Given the description of an element on the screen output the (x, y) to click on. 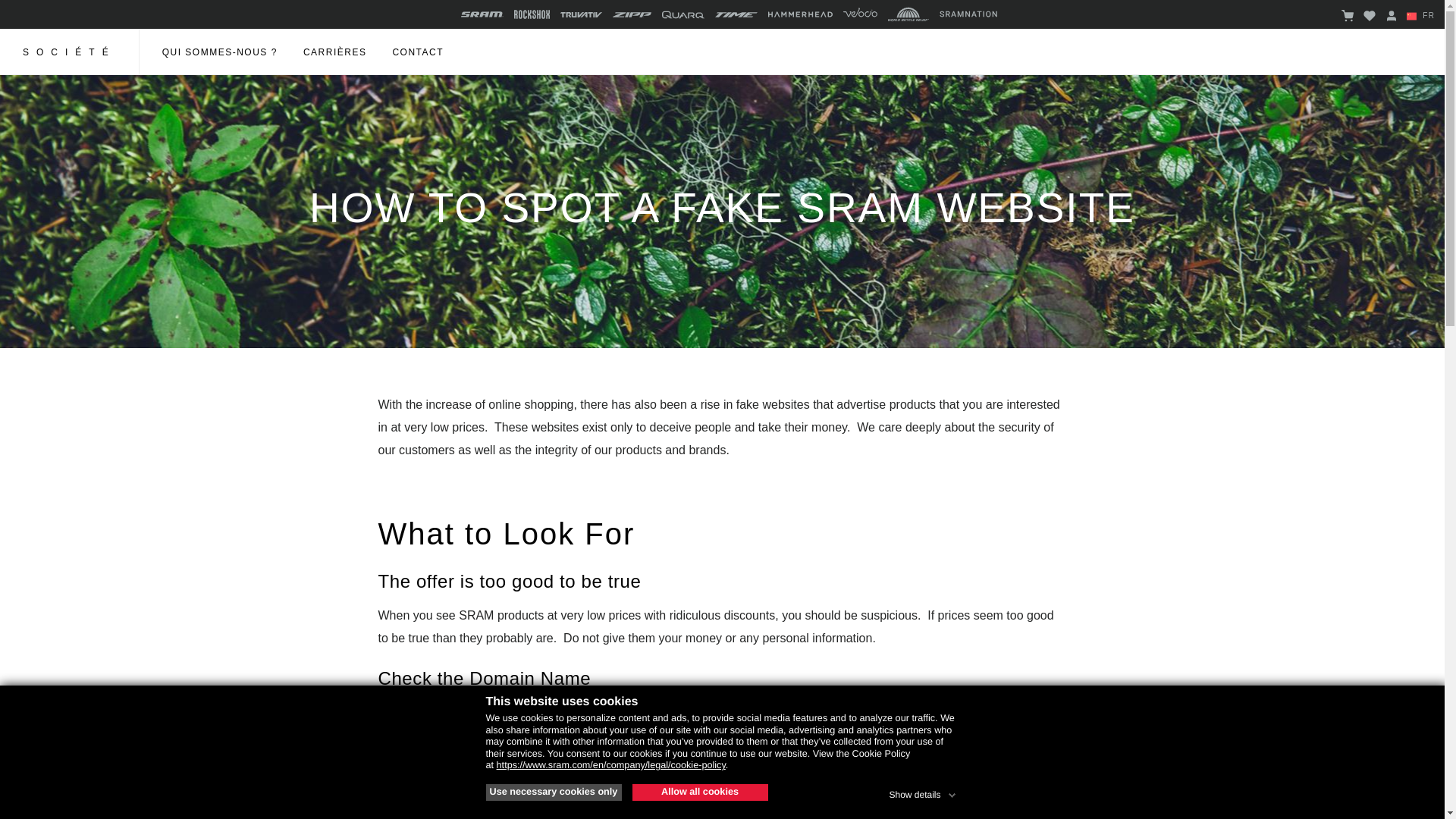
Use necessary cookies only (552, 791)
Show details (923, 791)
SRAM Cookie Policy (610, 765)
Allow all cookies (699, 791)
